Given the description of an element on the screen output the (x, y) to click on. 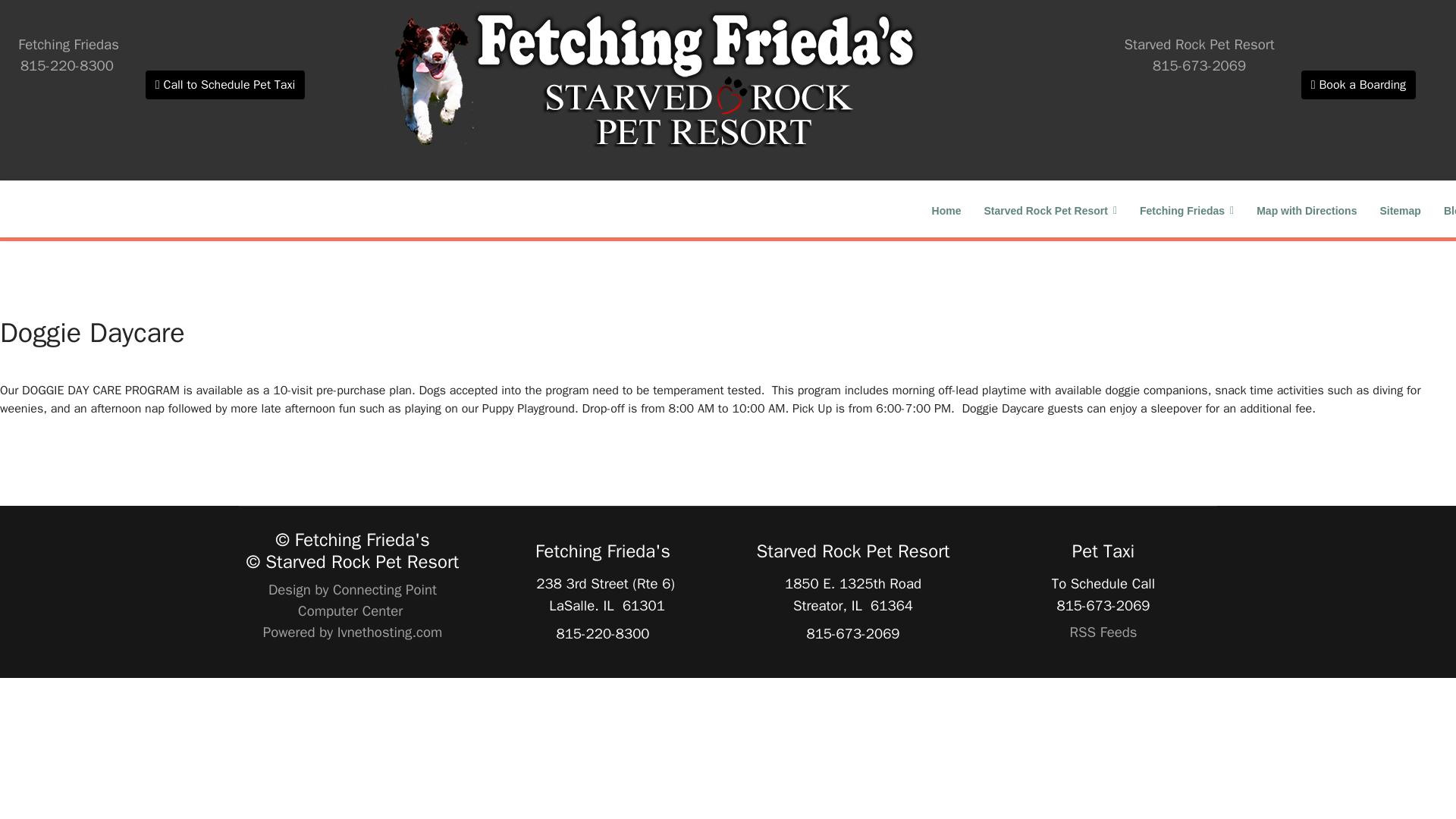
Powered by IVNet Hosting (352, 632)
Starved Rock Pet Resort (1050, 210)
Map with Directions (1306, 210)
Fetching Friedas (1186, 210)
Call to Schedule Pet Taxi (224, 84)
Book a Boarding (1358, 84)
Sitemap (1399, 210)
Design by Connecting Point Computer Center (351, 599)
